Given the description of an element on the screen output the (x, y) to click on. 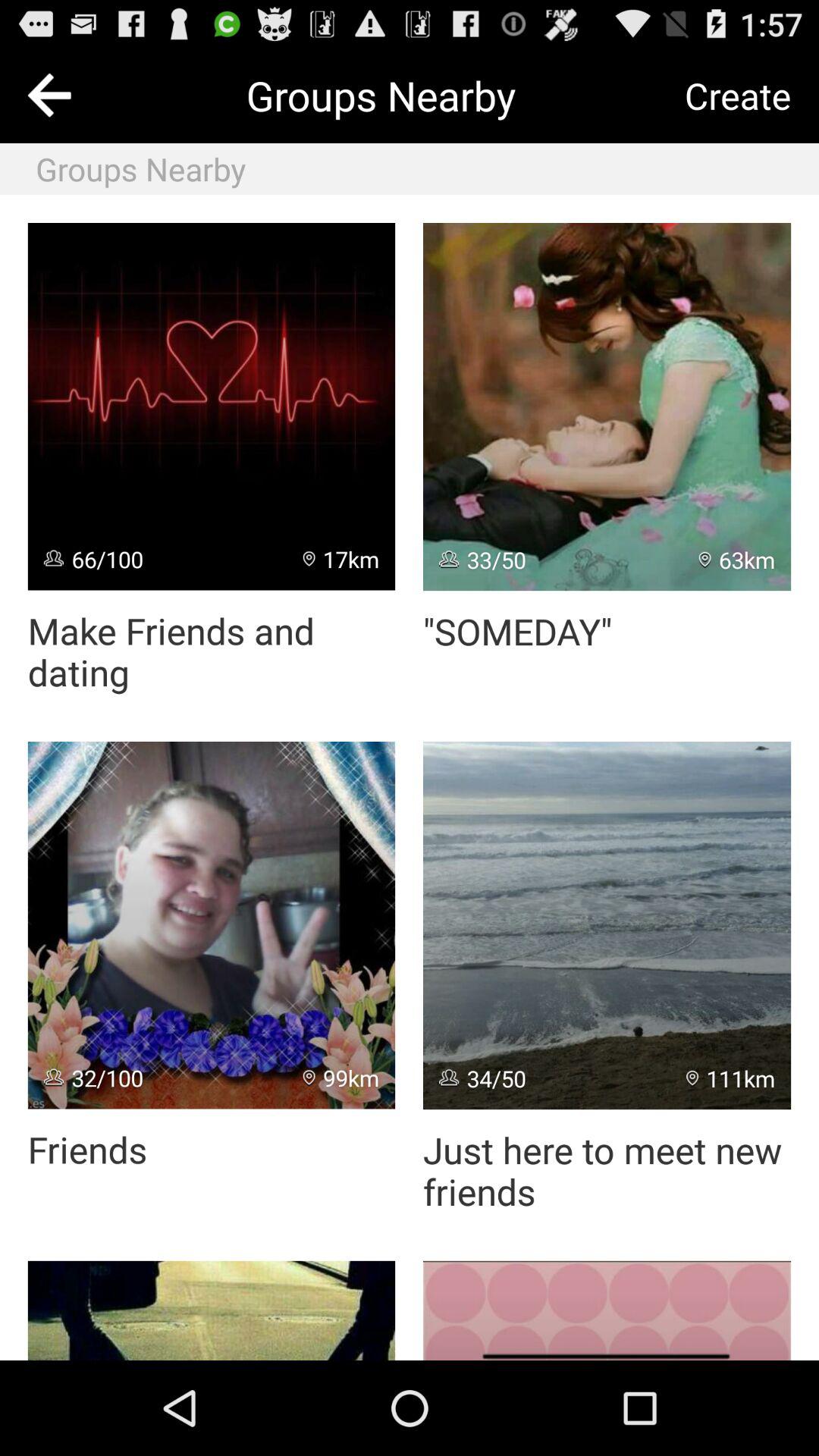
open icon above just here to icon (607, 925)
